Given the description of an element on the screen output the (x, y) to click on. 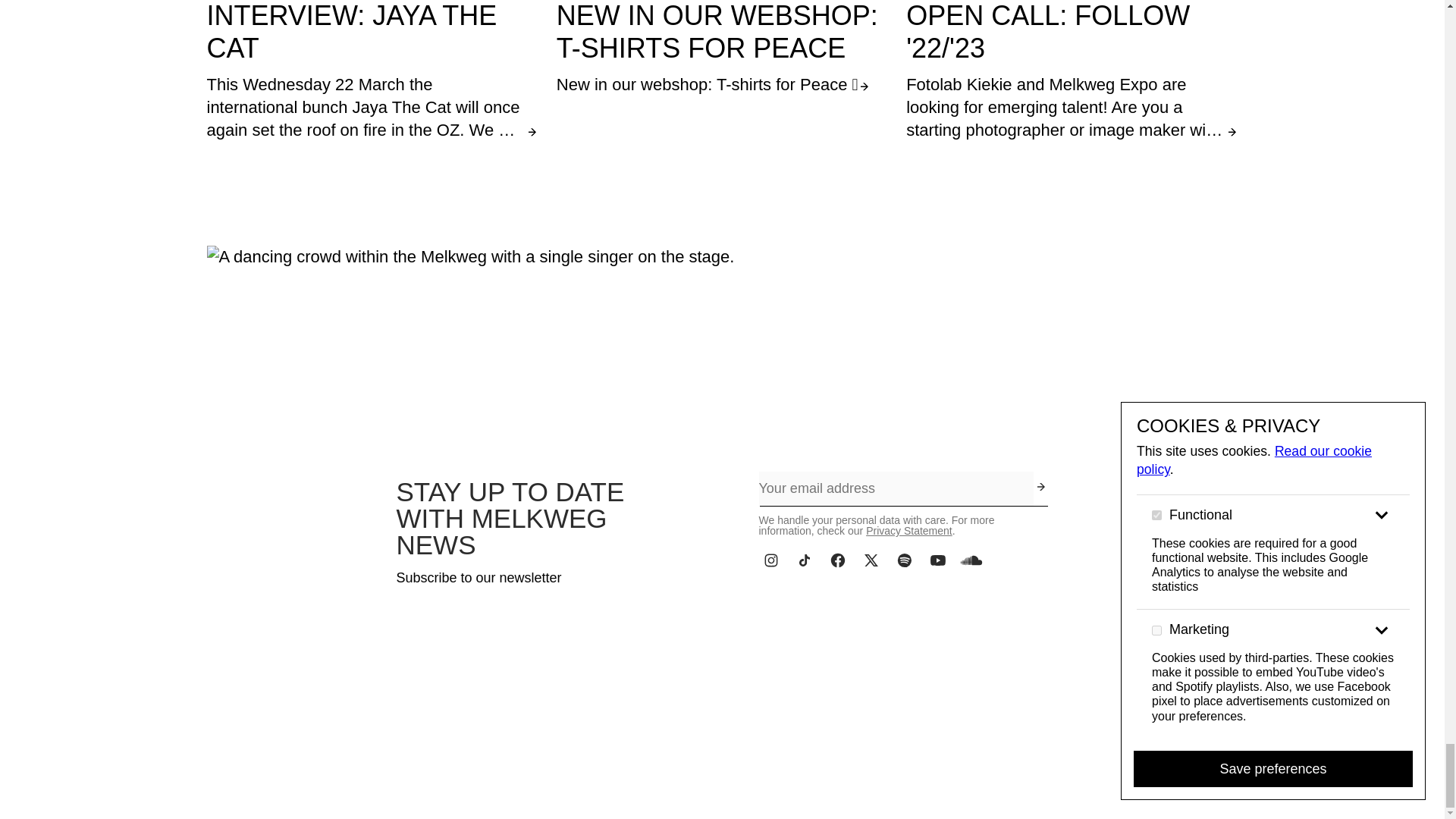
Facebook (836, 559)
Open news article (1071, 70)
Privacy Statement (909, 530)
Instagram (770, 559)
Youtube (936, 559)
Spotify (903, 559)
Open news article (722, 48)
Open news article (371, 70)
TikTok (803, 559)
